Given the description of an element on the screen output the (x, y) to click on. 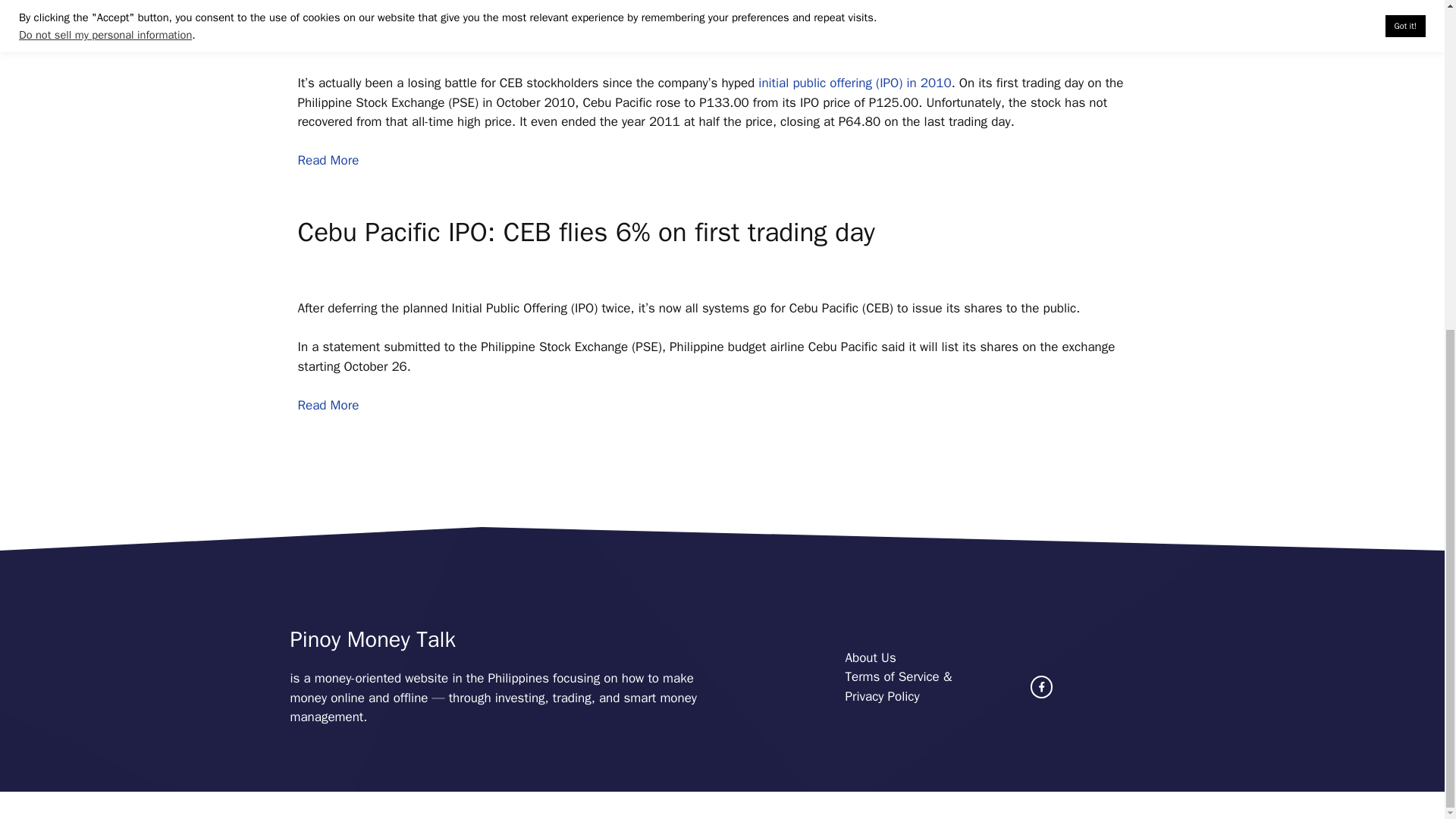
Read More (327, 405)
Read More (327, 160)
About Us (869, 657)
